Given the description of an element on the screen output the (x, y) to click on. 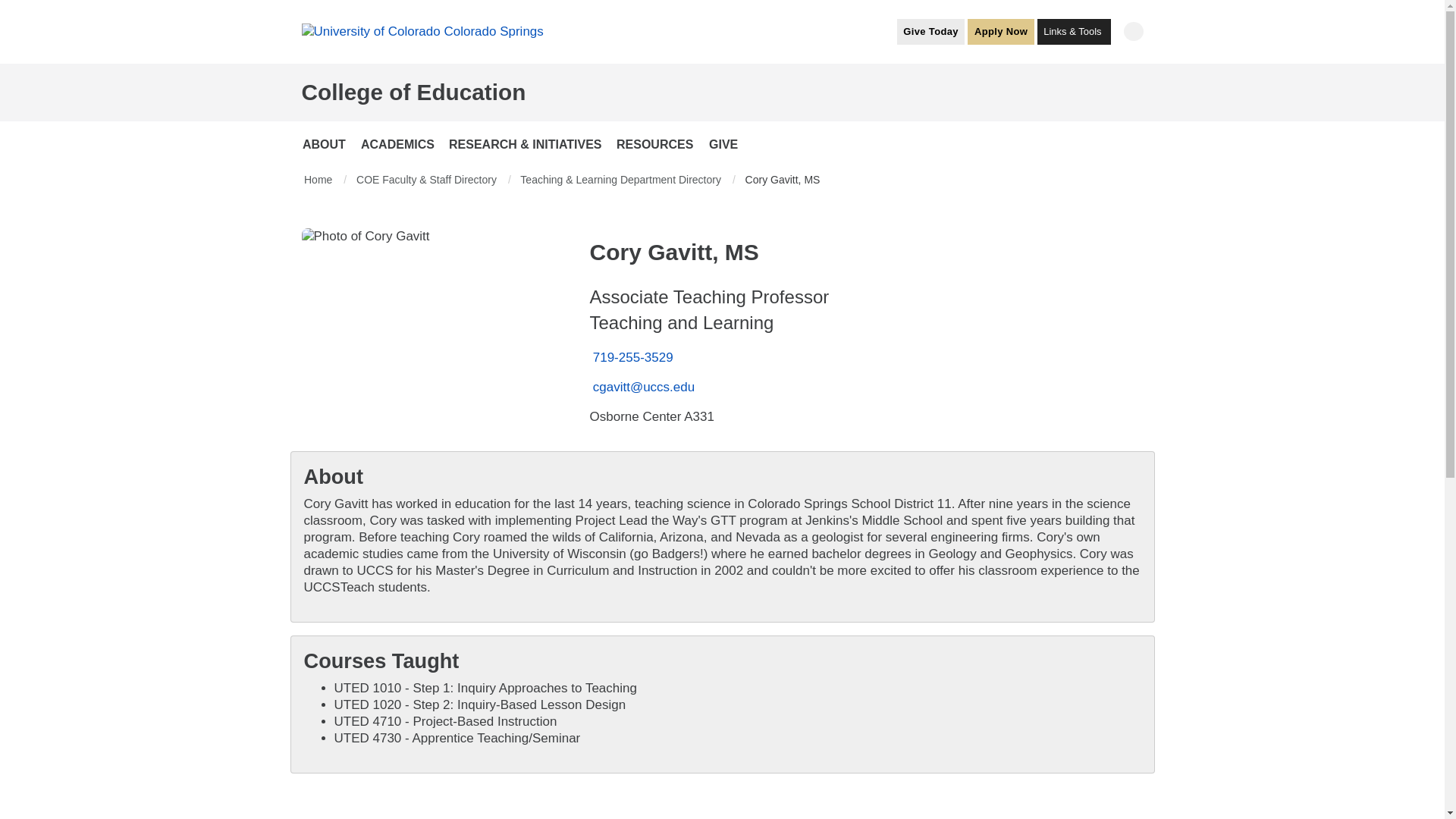
ABOUT (326, 144)
UCCS Home (422, 30)
Give Today (930, 31)
College of Education (413, 91)
Apply Now (1000, 31)
College of Education Home (413, 91)
